Given the description of an element on the screen output the (x, y) to click on. 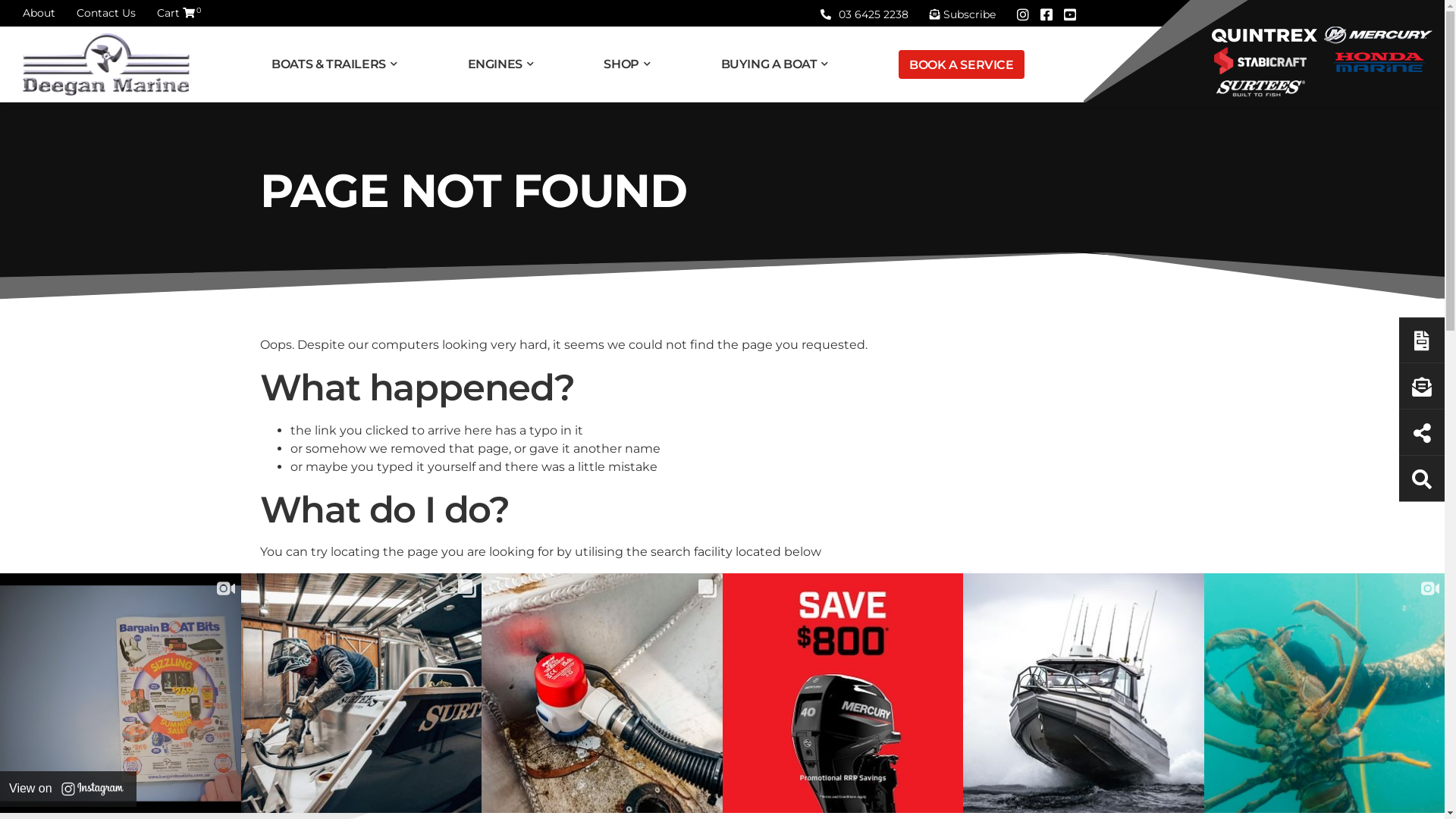
BOATS & TRAILERS Element type: text (339, 64)
03 6425 2238 Element type: text (864, 14)
Contact Us Element type: text (105, 12)
ENGINES Element type: text (505, 64)
Subscribe Element type: text (962, 14)
View on Element type: text (68, 788)
SHOP Element type: text (632, 64)
BUYING A BOAT Element type: text (780, 64)
Cart
0 Element type: text (175, 12)
BOOK A SERVICE Element type: text (960, 64)
About Element type: text (38, 12)
